Given the description of an element on the screen output the (x, y) to click on. 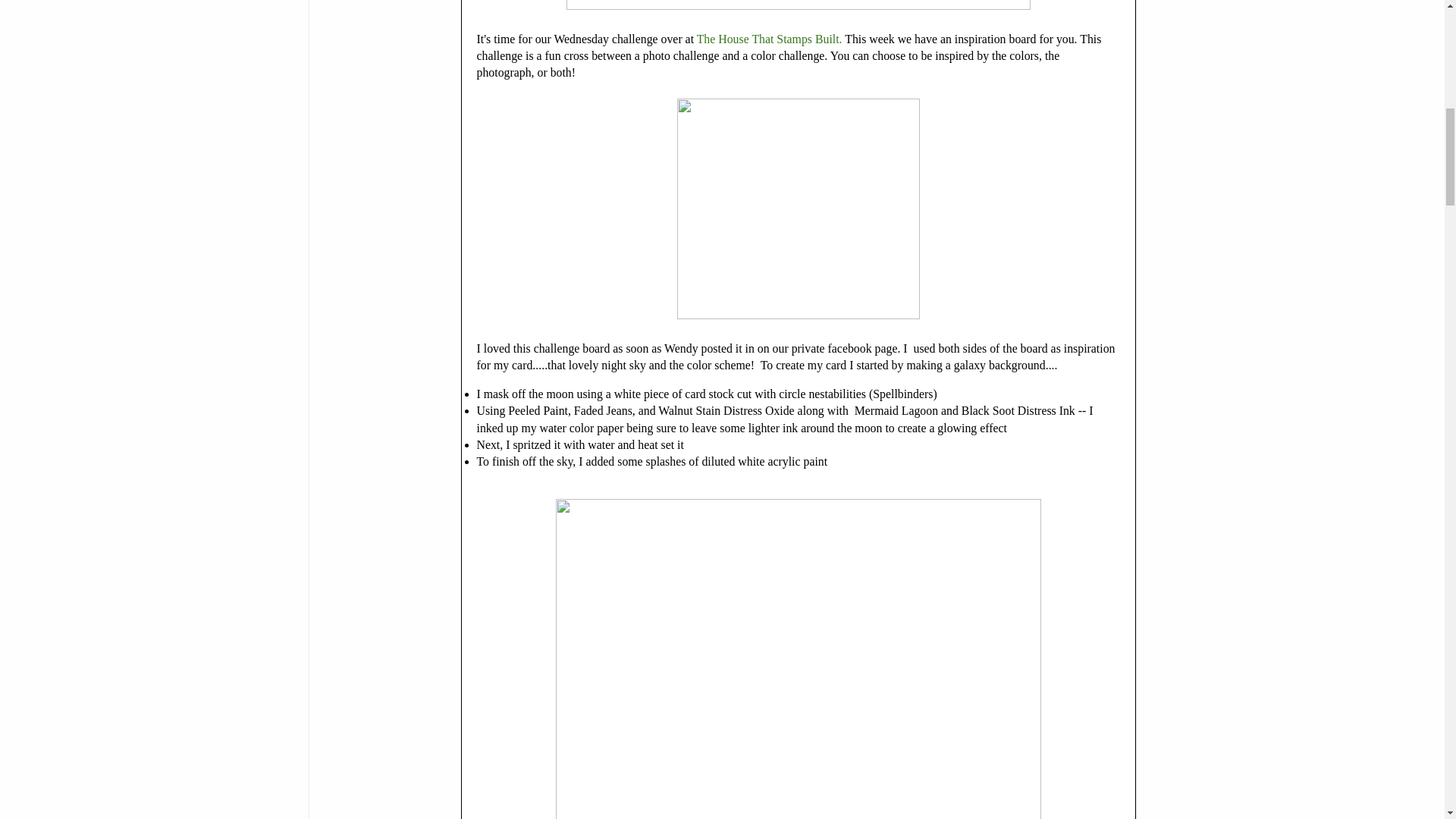
The House That Stamps Built. (770, 38)
